Given the description of an element on the screen output the (x, y) to click on. 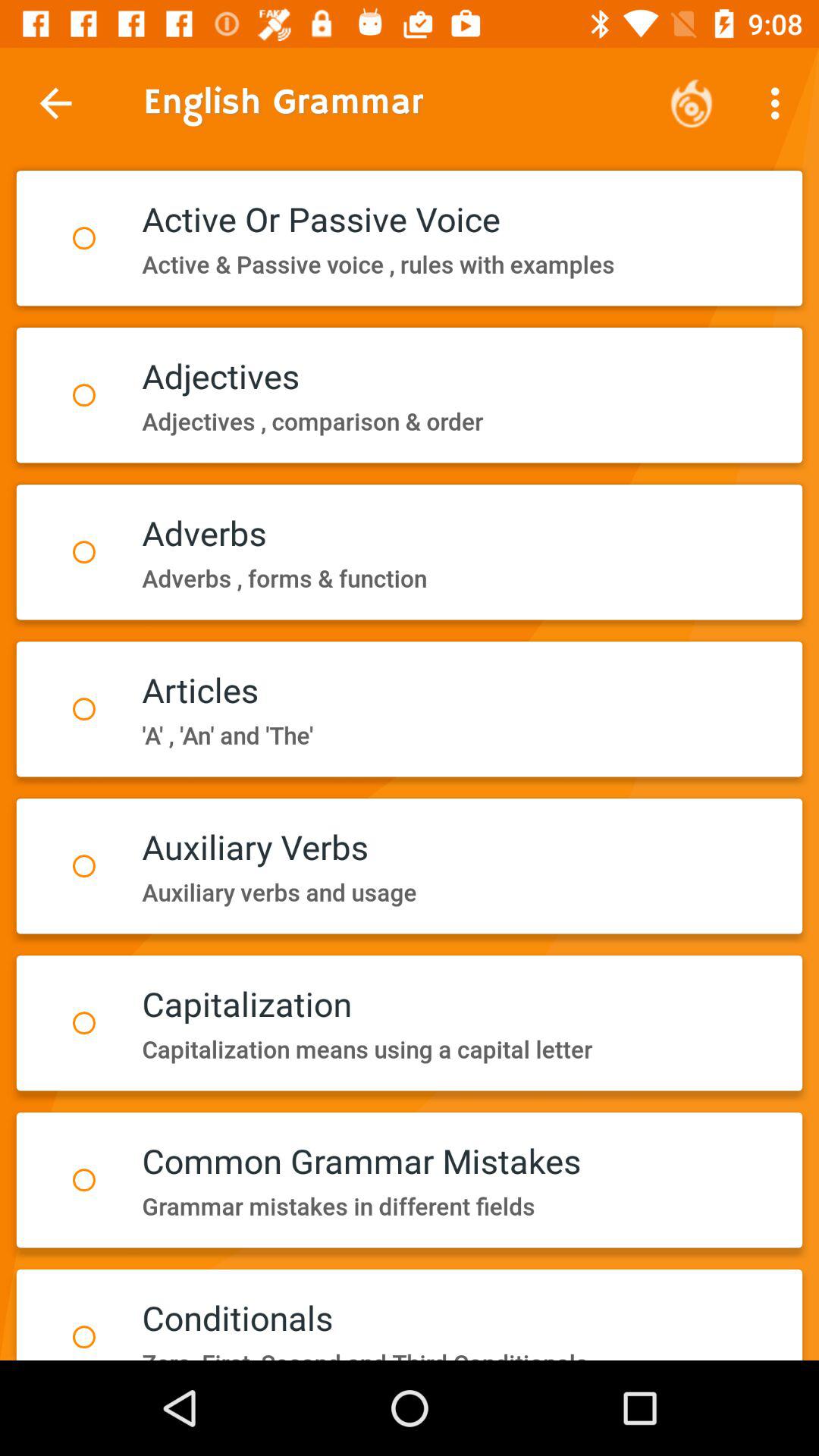
press the icon above active passive voice (691, 103)
